Given the description of an element on the screen output the (x, y) to click on. 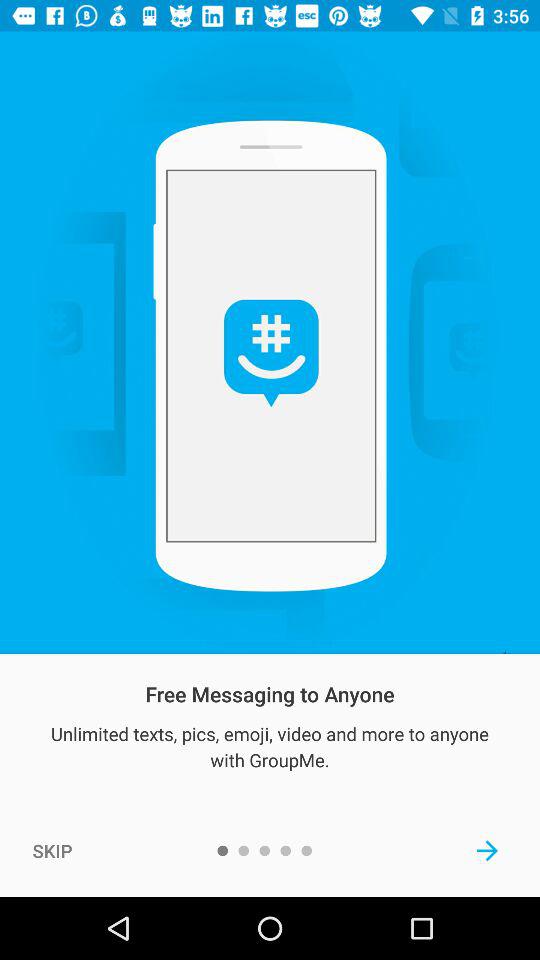
click the icon below the unlimited texts pics icon (487, 850)
